Given the description of an element on the screen output the (x, y) to click on. 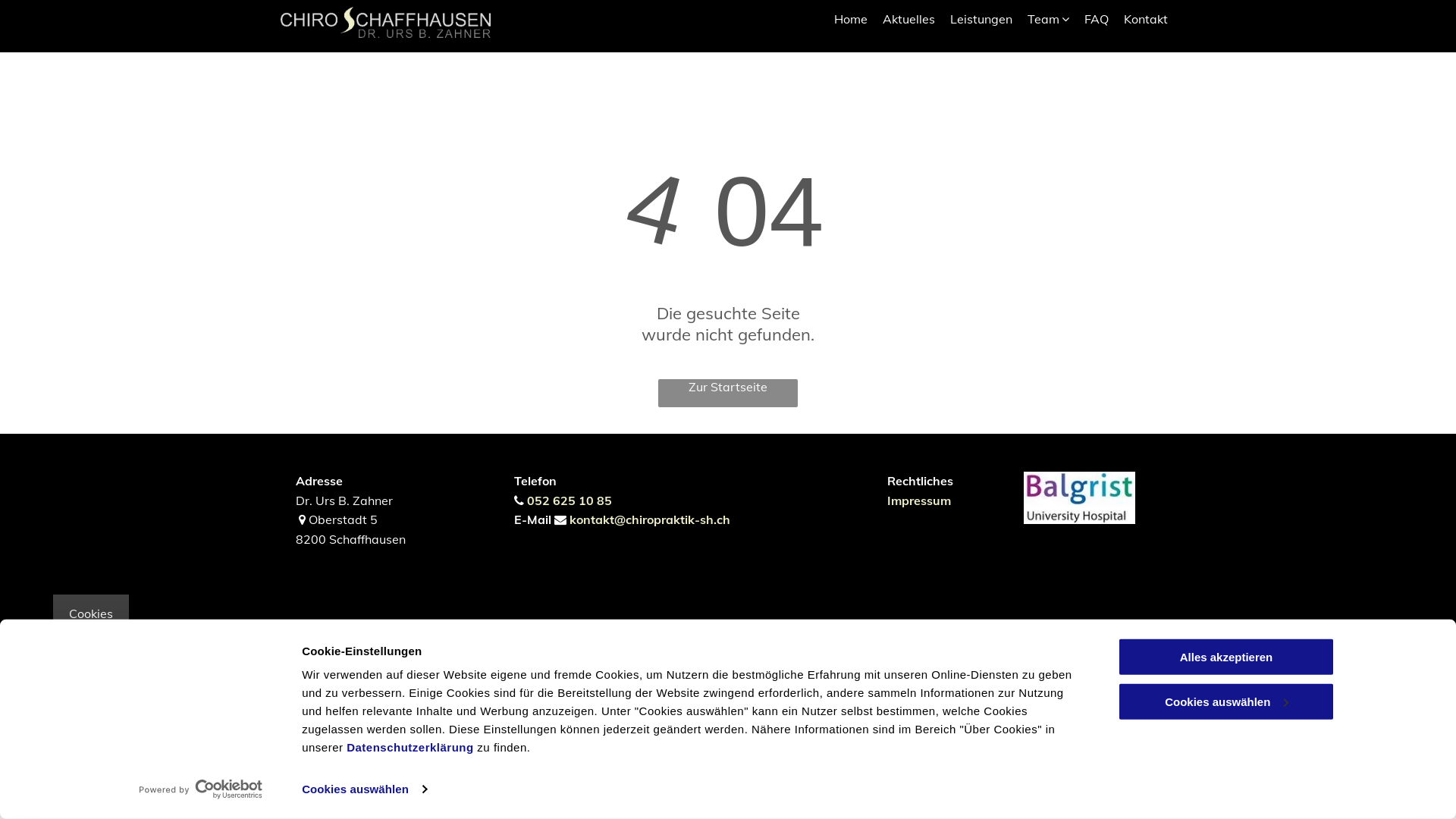
Home Element type: text (850, 18)
052 625 10 85 Element type: text (568, 500)
Zur Startseite Element type: text (727, 393)
Kontakt Element type: text (1145, 18)
kontakt@chiropraktik-sh.ch Element type: text (648, 519)
FAQ Element type: text (1096, 18)
Alles akzeptieren Element type: text (1225, 656)
Aktuelles Element type: text (908, 18)
Leistungen Element type: text (981, 18)
Impressum Element type: text (918, 500)
Team Element type: text (1048, 18)
Cookies Element type: text (90, 613)
